Given the description of an element on the screen output the (x, y) to click on. 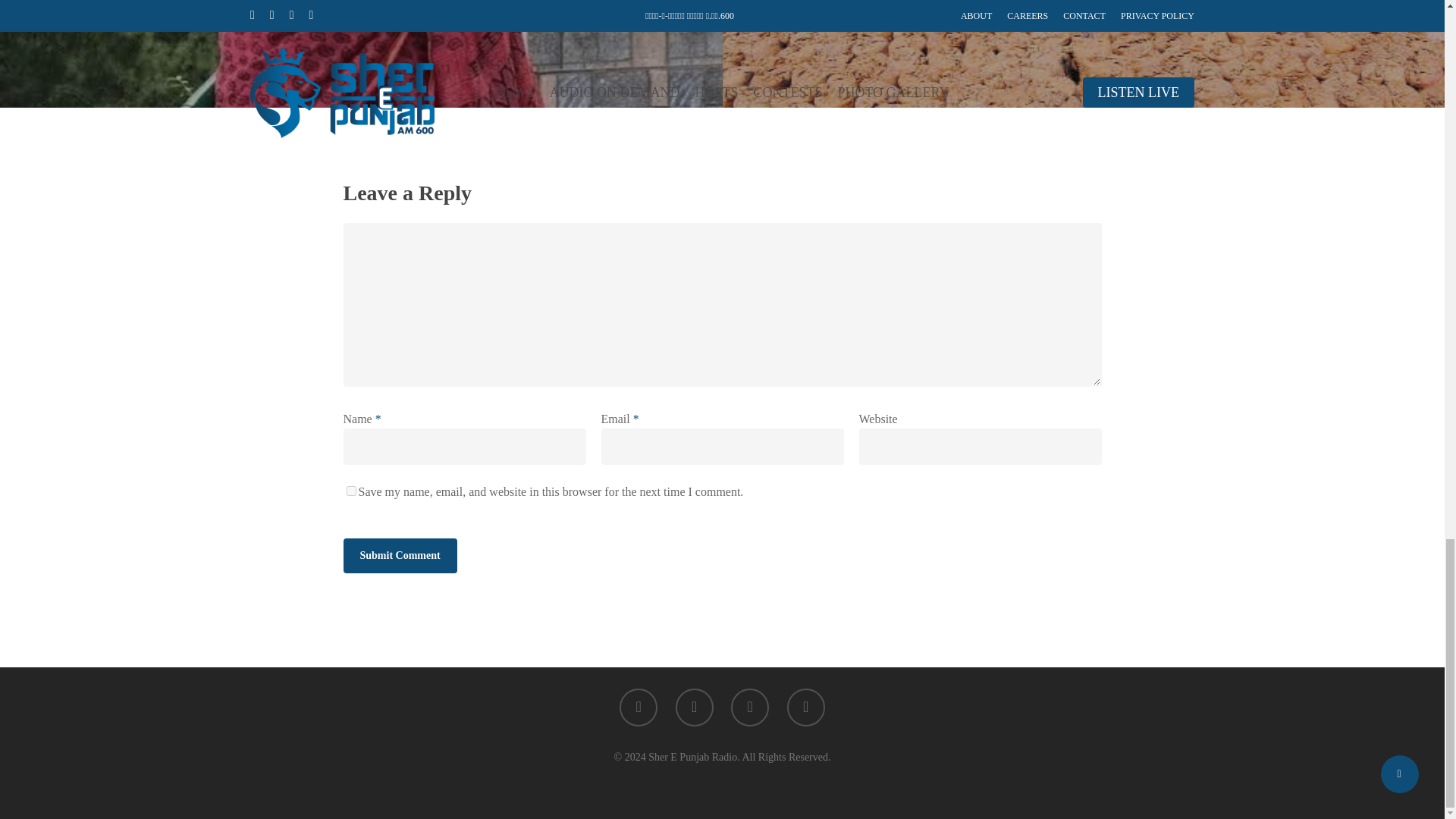
Submit Comment (399, 555)
yes (350, 491)
Submit Comment (399, 555)
